Given the description of an element on the screen output the (x, y) to click on. 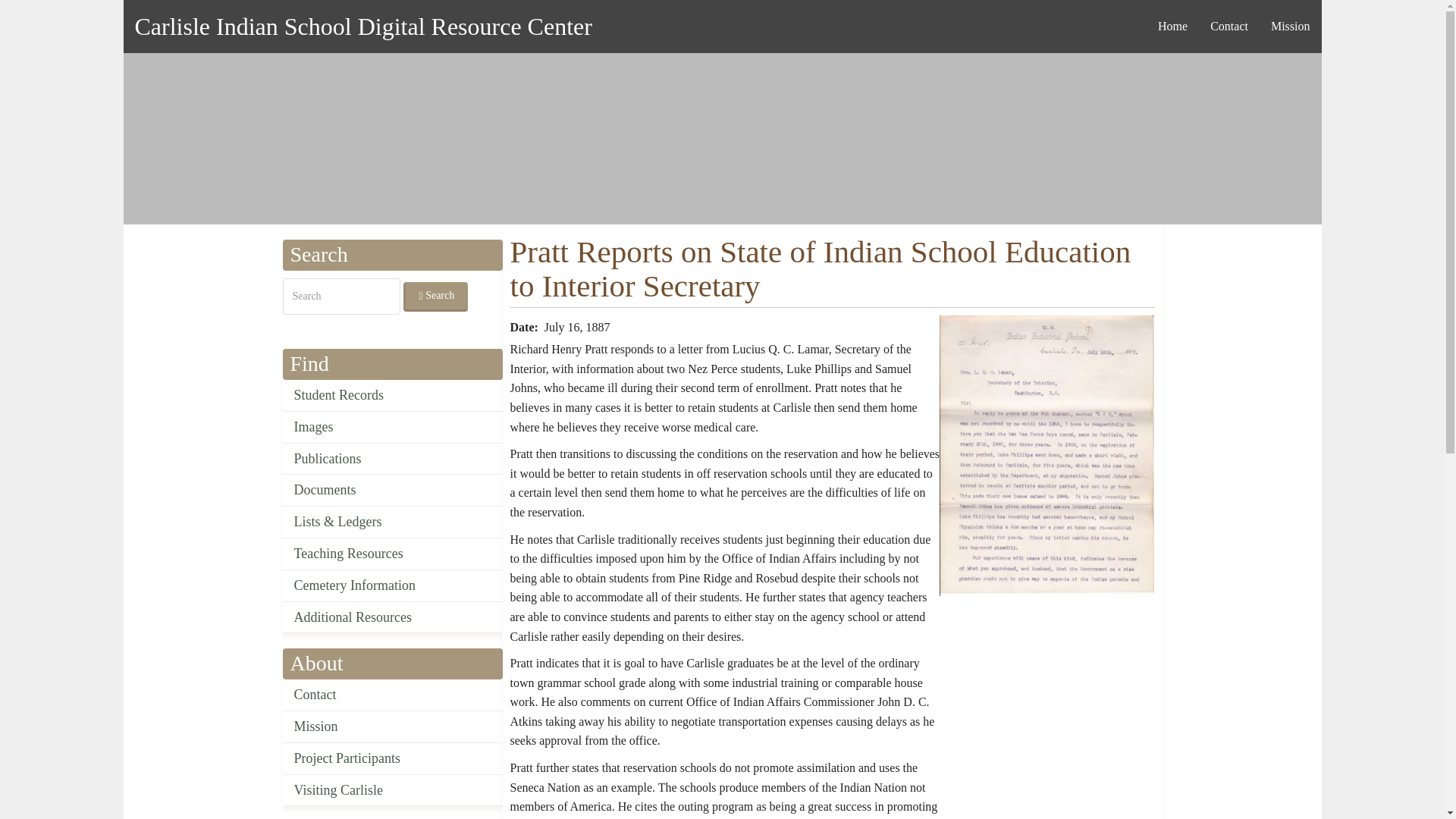
Mission (392, 726)
Enter the terms you wish to search for. (340, 296)
Home (362, 26)
Contact (392, 695)
Cemetery Information (392, 585)
Student Records (392, 395)
Images (392, 427)
Documents (392, 490)
Carlisle Indian School Digital Resource Center (362, 26)
